Given the description of an element on the screen output the (x, y) to click on. 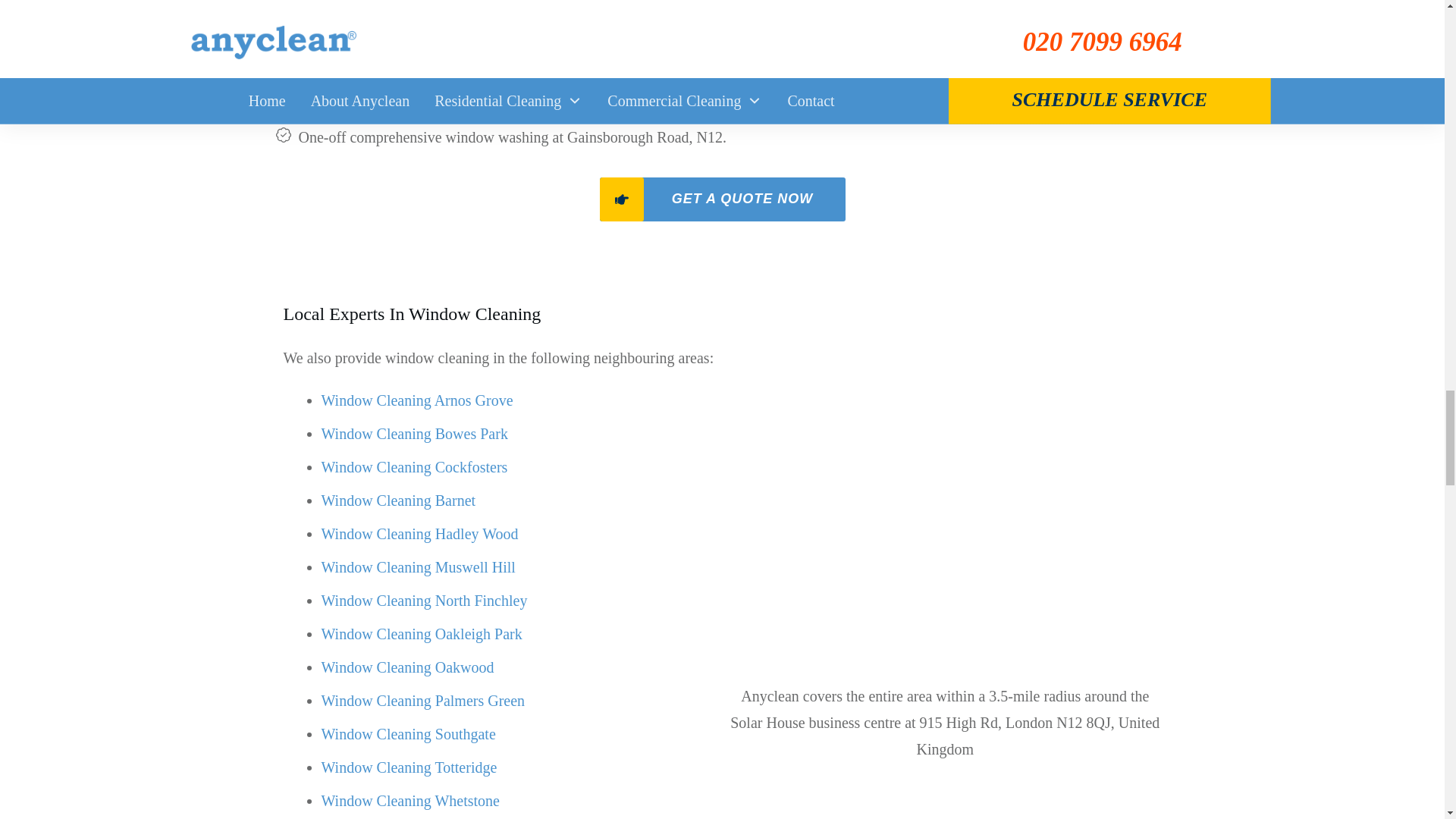
Window Cleaning Oakleigh Park (421, 633)
Window Cleaning Hadley Wood  (421, 533)
Window Cleaning North Finchley (424, 600)
Window Cleaning Southgate (408, 733)
Window Cleaning Arnos Grove (417, 400)
Window Cleaning Bowes Park (414, 433)
Window Cleaning Muswell Hill (418, 566)
Google Map (945, 515)
Window Cleaning Oakwood (408, 667)
Window Cleaning Palmers Green (423, 700)
Window Cleaning Barnet (398, 500)
GET A QUOTE NOW (721, 199)
Window Cleaning Cockfosters (414, 466)
